Given the description of an element on the screen output the (x, y) to click on. 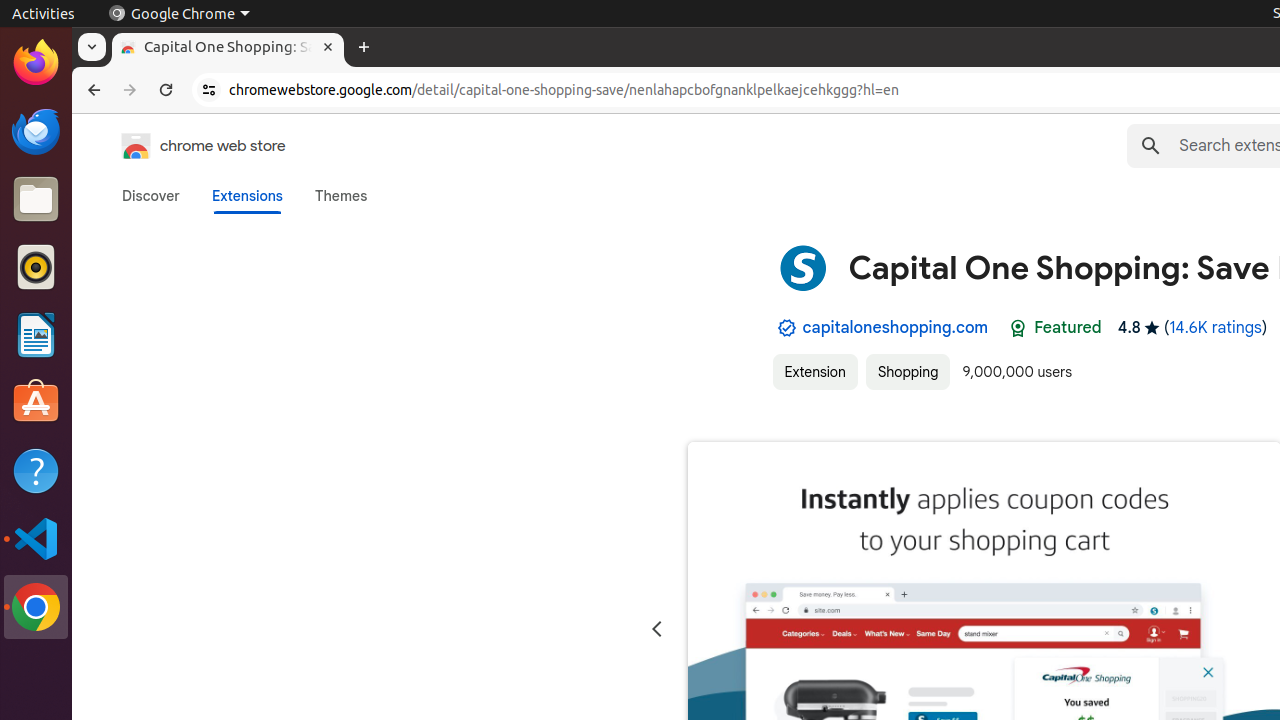
Rhythmbox Element type: push-button (36, 267)
Help Element type: push-button (36, 470)
Previous slide Element type: push-button (656, 629)
Ubuntu Software Element type: push-button (36, 402)
Back Element type: push-button (91, 90)
